Given the description of an element on the screen output the (x, y) to click on. 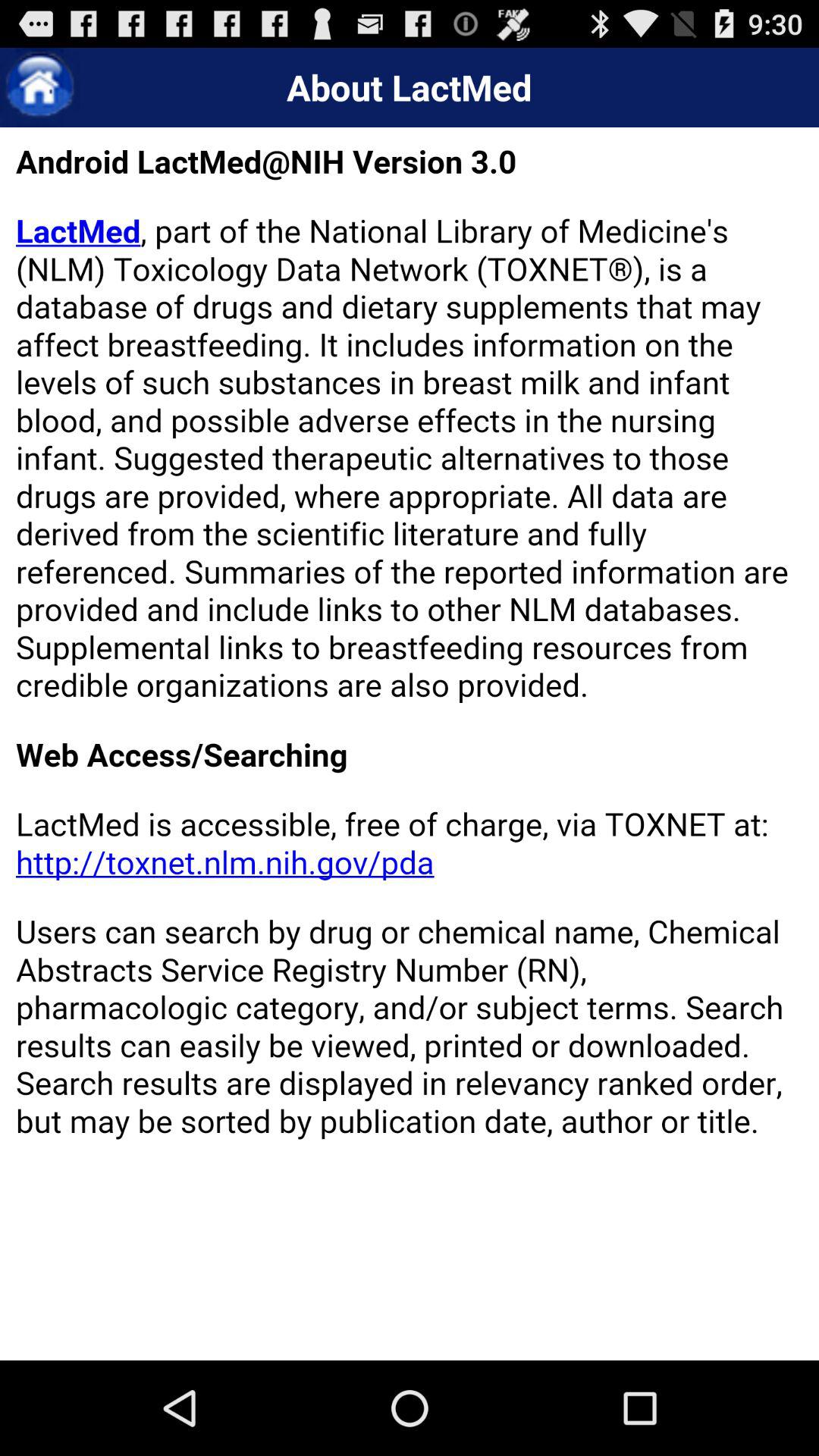
go home (39, 87)
